Given the description of an element on the screen output the (x, y) to click on. 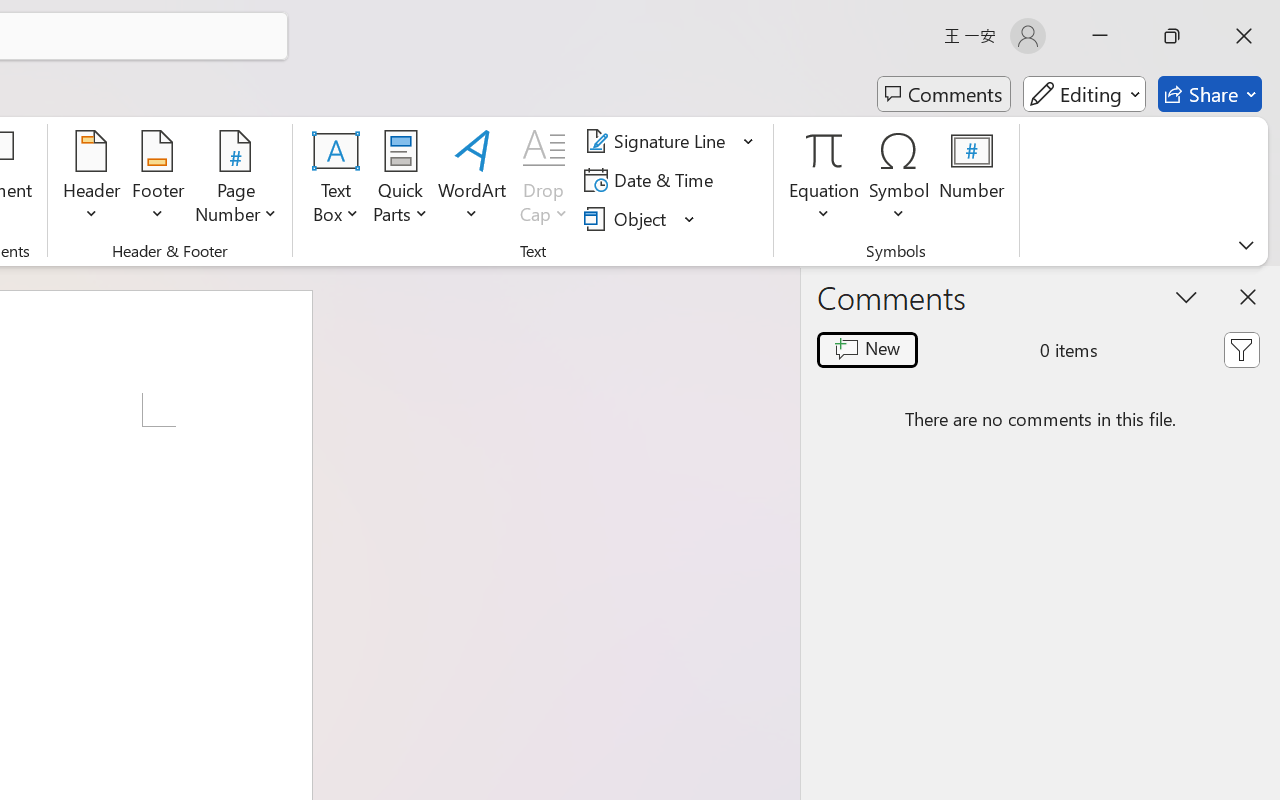
Symbol (899, 179)
Text Box (335, 179)
Page Number (236, 179)
Footer (157, 179)
Signature Line (658, 141)
Signature Line (669, 141)
Header (92, 179)
WordArt (472, 179)
Date & Time... (651, 179)
Object... (640, 218)
